Given the description of an element on the screen output the (x, y) to click on. 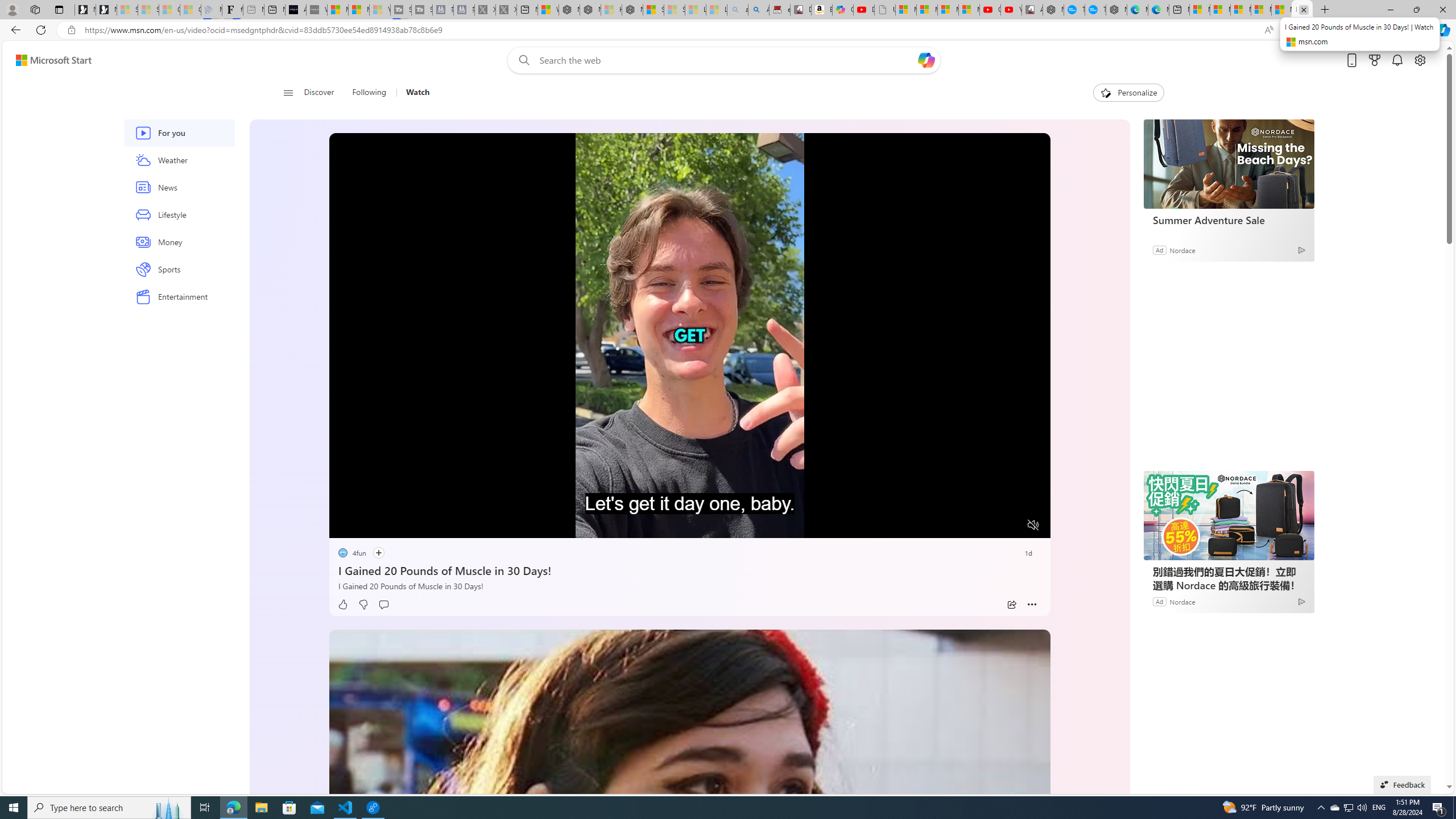
Share (1010, 604)
Captions (988, 525)
Personalize (1128, 92)
Ad Choice (1300, 601)
Microsoft Start (53, 60)
Web search (520, 60)
New tab (1178, 9)
Dislike (363, 604)
Refresh (40, 29)
Close (1442, 9)
New tab - Sleeping (253, 9)
YouTube Kids - An App Created for Kids to Explore Content (1010, 9)
New Tab (1325, 9)
Following (368, 92)
